Given the description of an element on the screen output the (x, y) to click on. 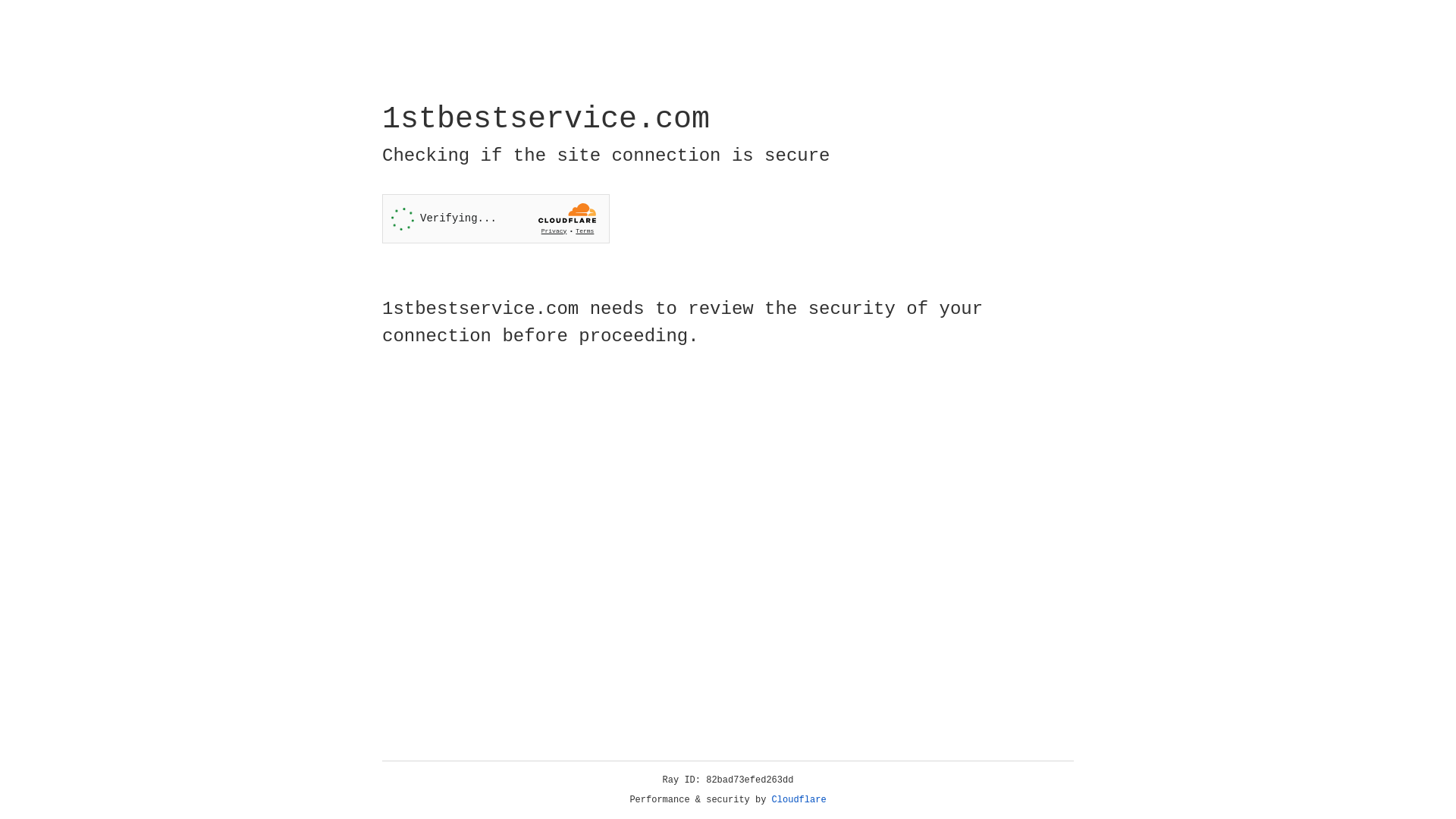
Cloudflare Element type: text (798, 799)
Widget containing a Cloudflare security challenge Element type: hover (495, 218)
